Given the description of an element on the screen output the (x, y) to click on. 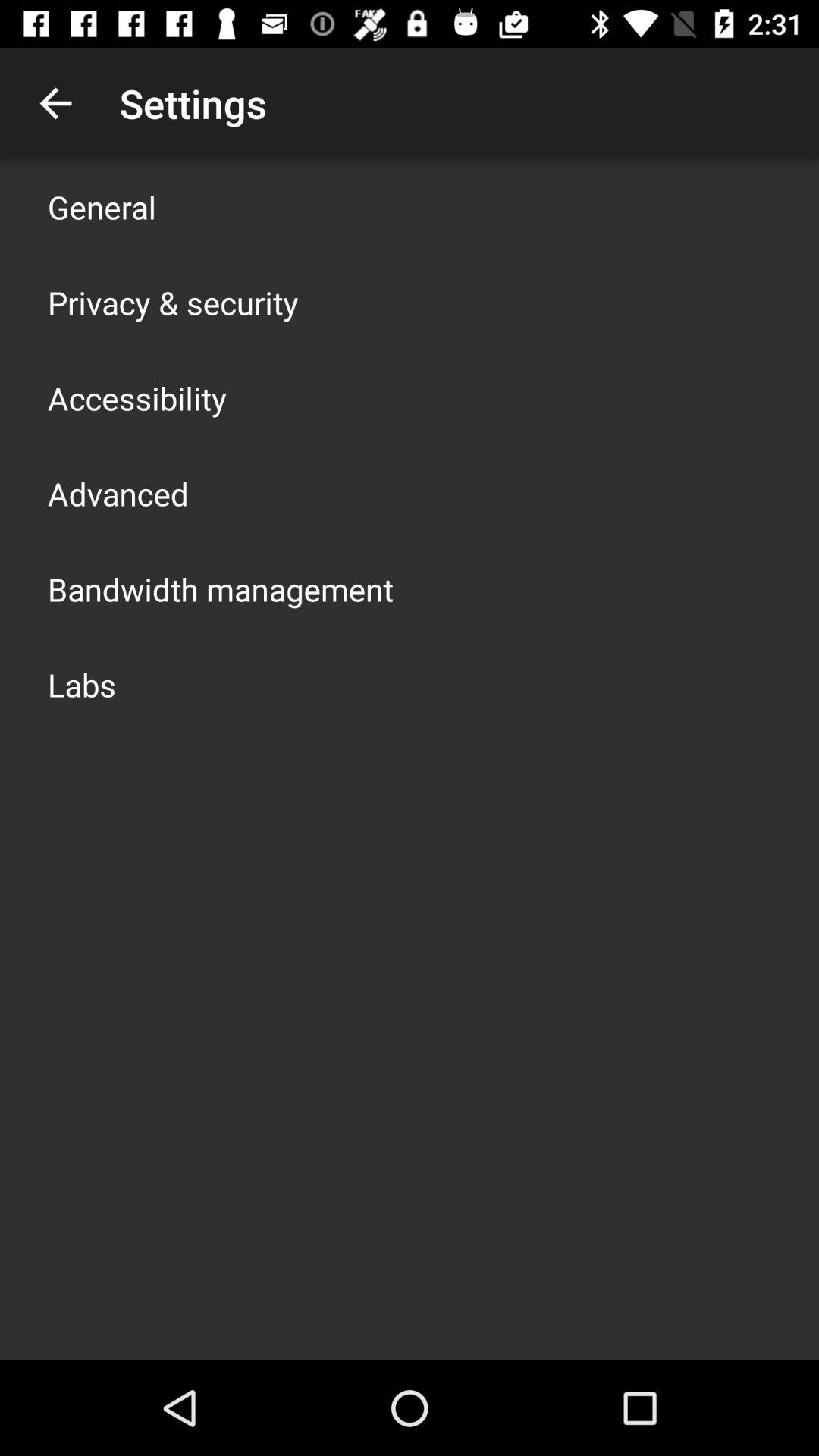
tap the app below the advanced item (220, 588)
